Given the description of an element on the screen output the (x, y) to click on. 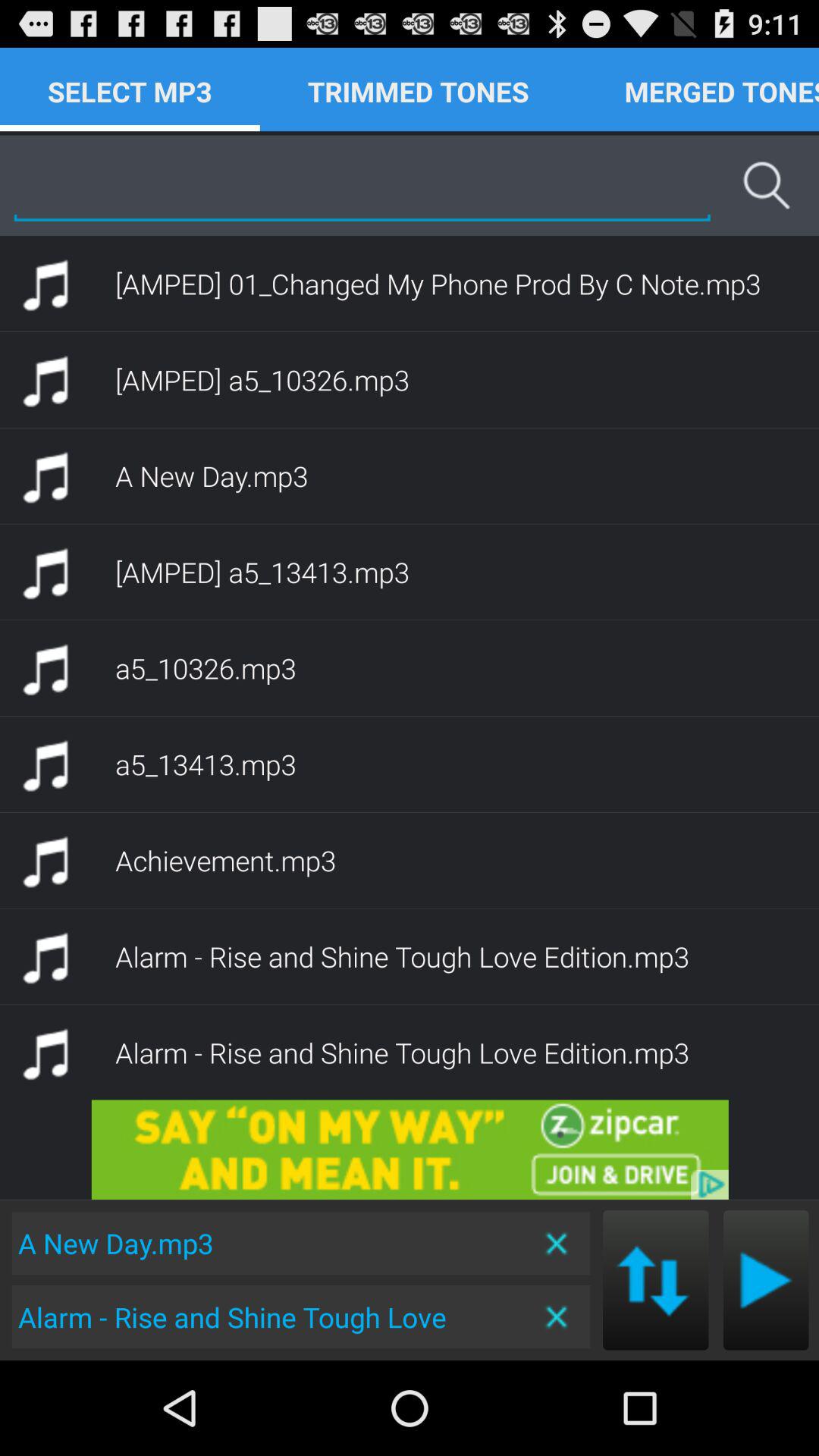
sufffle songs (655, 1280)
